Given the description of an element on the screen output the (x, y) to click on. 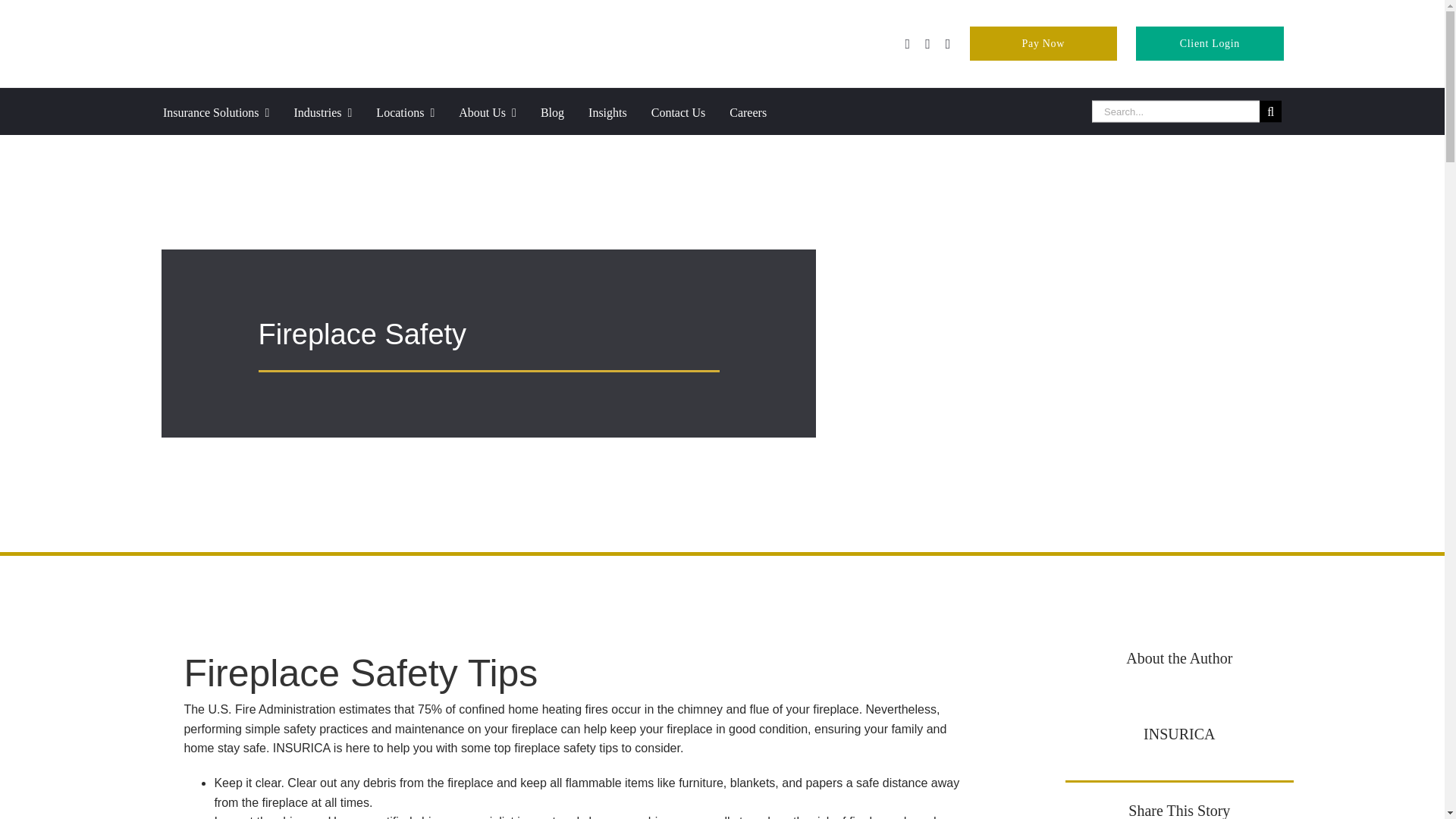
Pay Now (1042, 43)
Pay Now (1042, 43)
Client Login (1208, 43)
Client Login (1208, 43)
Industries (334, 111)
Insurance Solutions (228, 111)
